Given the description of an element on the screen output the (x, y) to click on. 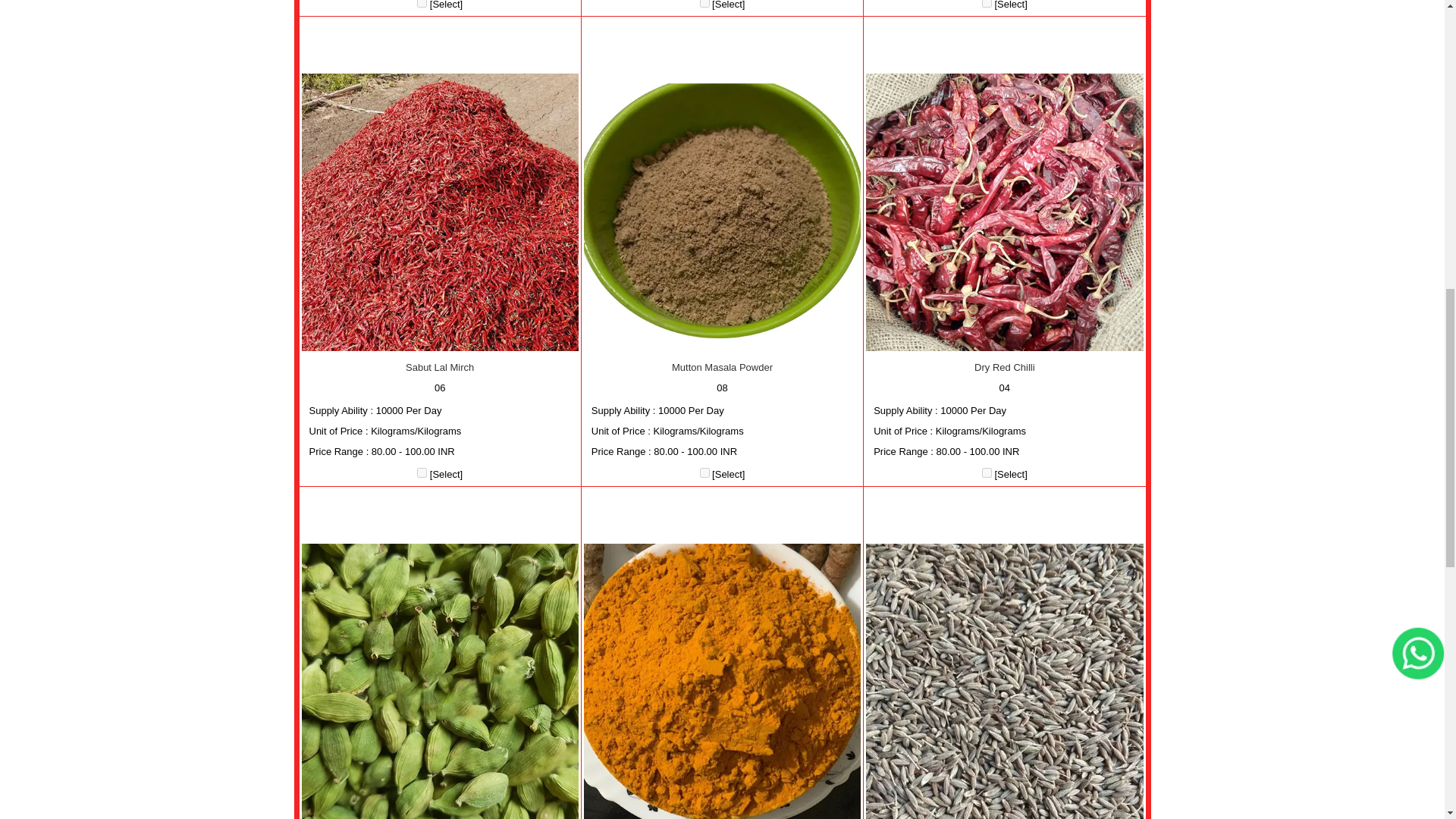
CATALOG (421, 3)
Green Cardamom (439, 681)
CATALOG (986, 472)
CATALOG (986, 3)
CATALOG (703, 3)
Dry Red Chilli (1004, 211)
Turmeric Powder (721, 681)
CATALOG (421, 472)
CATALOG (703, 472)
Cumin Seeds (1004, 681)
